Given the description of an element on the screen output the (x, y) to click on. 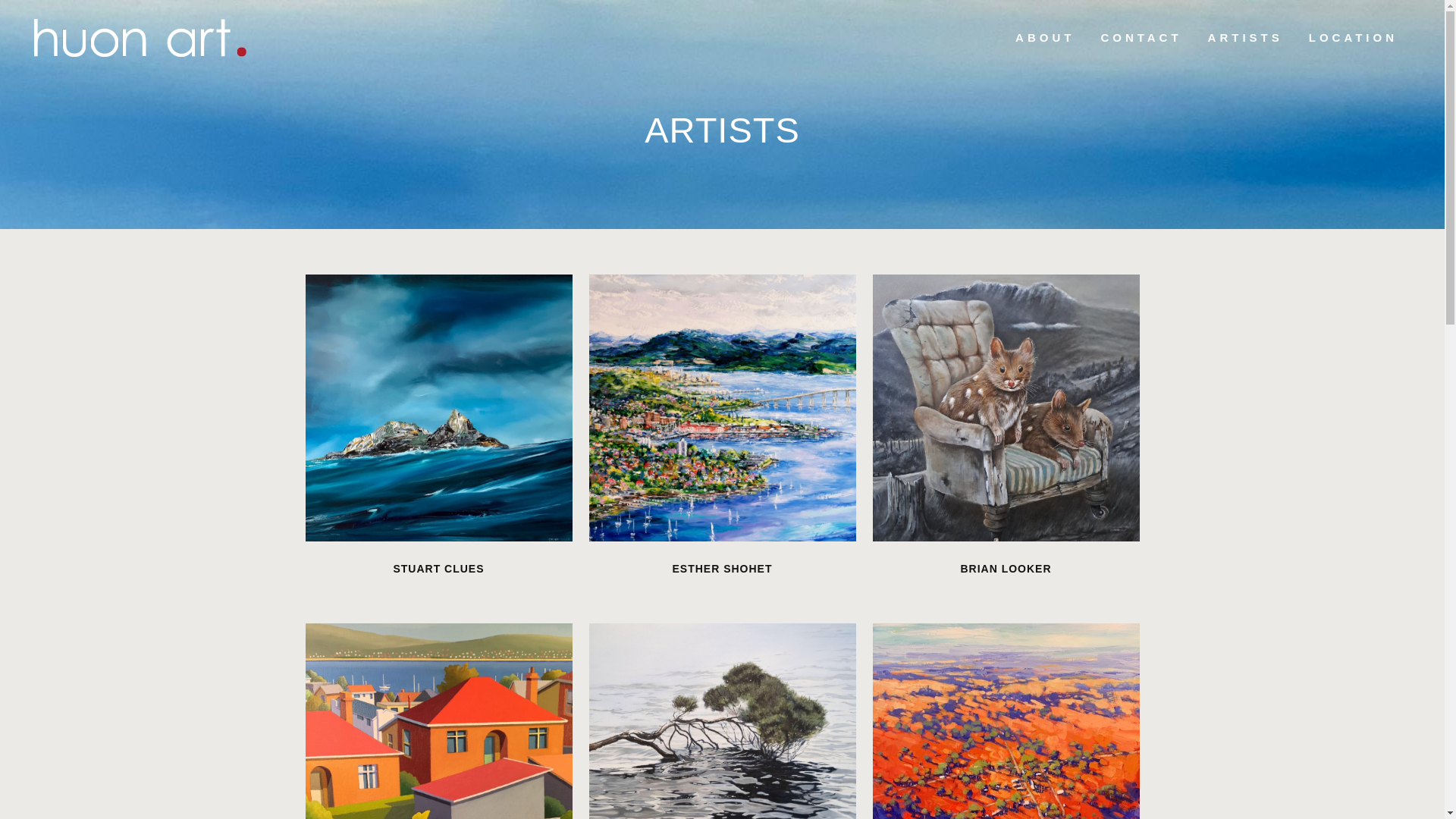
Esther Shohet Element type: hover (721, 407)
ABOUT Element type: text (1044, 37)
ESTHER SHOHET Element type: text (721, 568)
STUART CLUES Element type: text (437, 568)
LOCATION Element type: text (1352, 37)
Stuart Clues Element type: hover (437, 407)
Brian Looker Element type: hover (1005, 407)
BRIAN LOOKER Element type: text (1005, 568)
CONTACT Element type: text (1140, 37)
ARTISTS Element type: text (1245, 37)
